Given the description of an element on the screen output the (x, y) to click on. 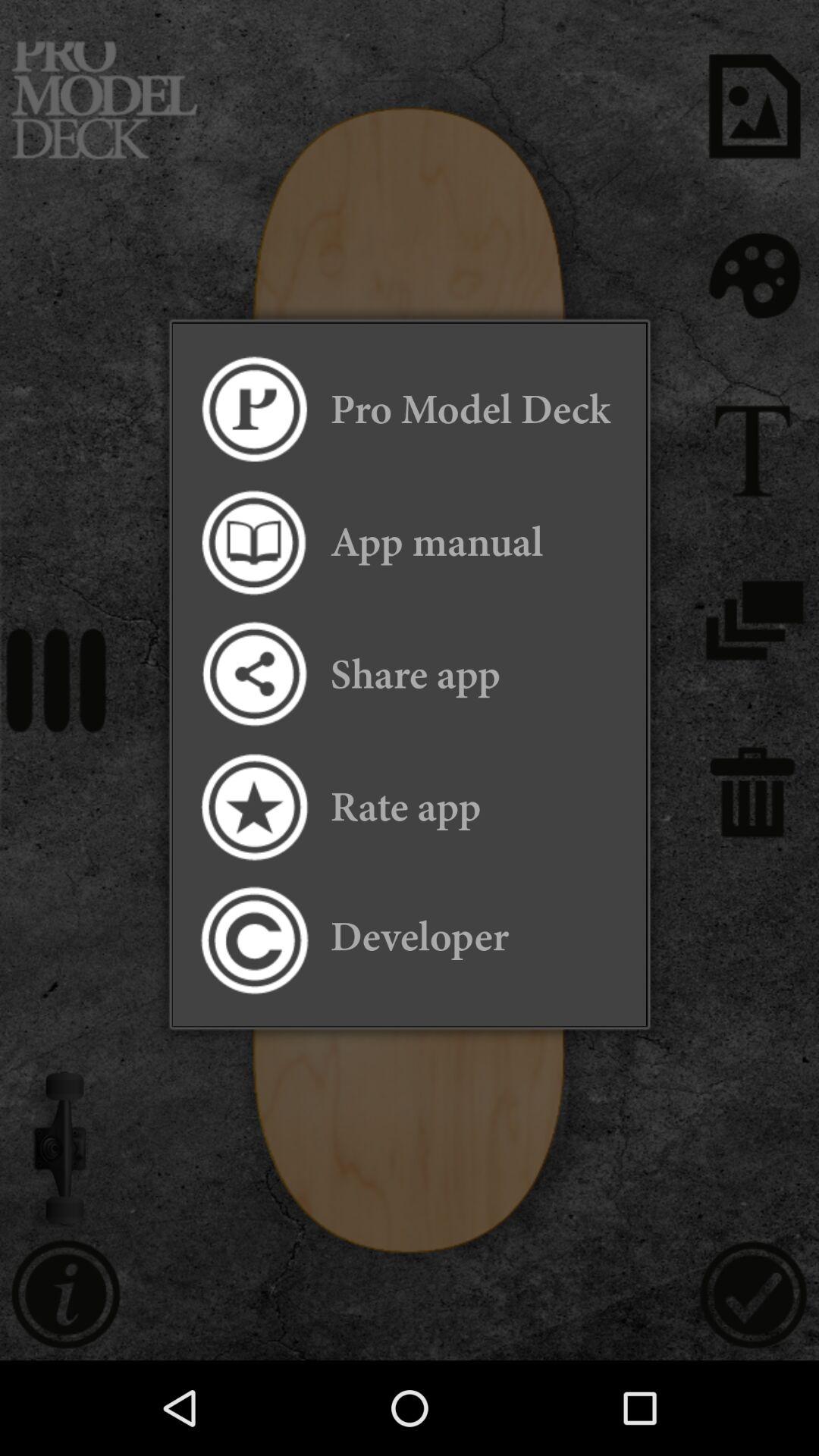
share the app (253, 674)
